Given the description of an element on the screen output the (x, y) to click on. 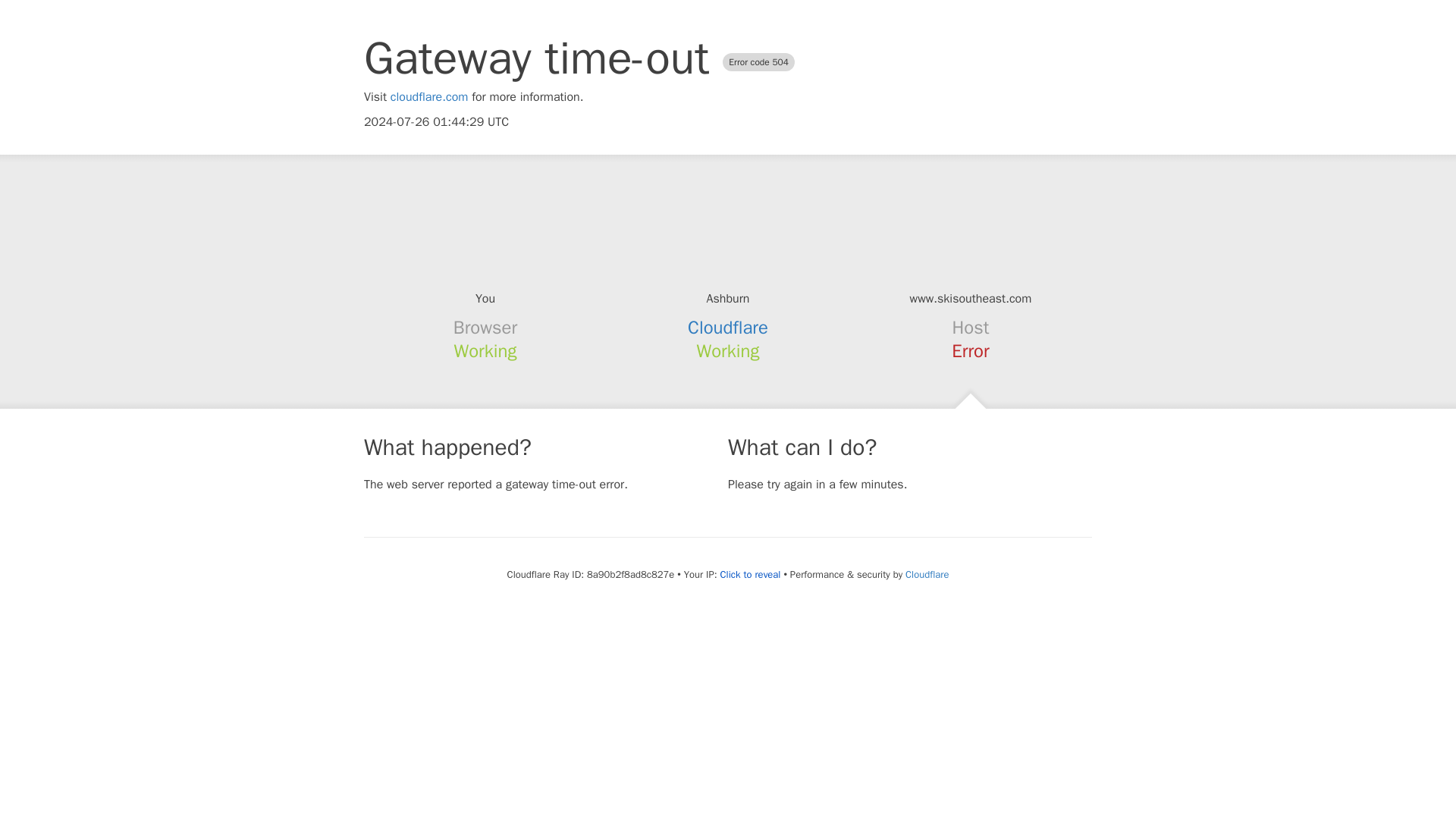
Cloudflare (727, 327)
Cloudflare (927, 574)
Click to reveal (750, 574)
cloudflare.com (429, 96)
